Given the description of an element on the screen output the (x, y) to click on. 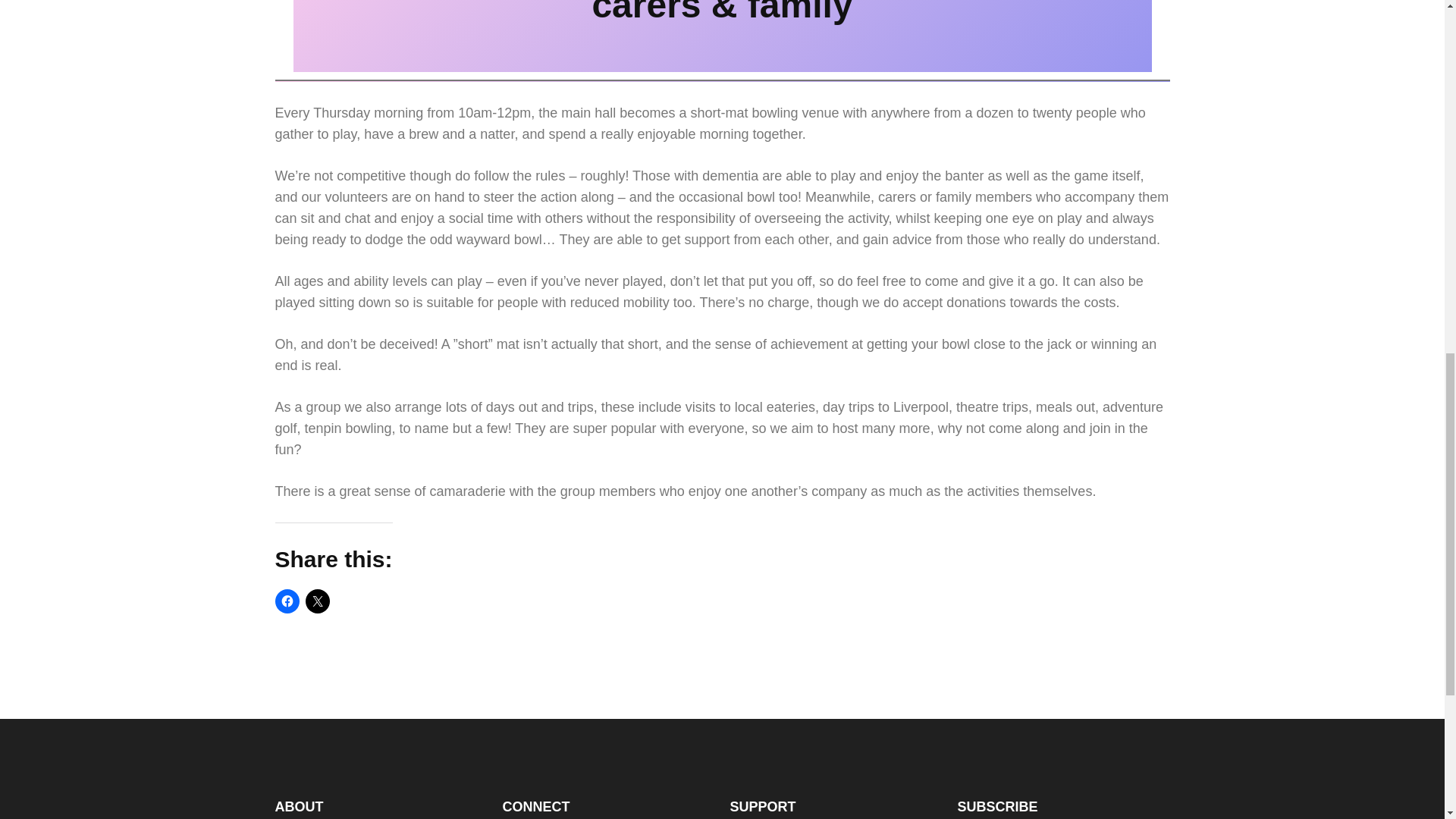
Click to share on X (316, 600)
Click to share on Facebook (286, 600)
